Given the description of an element on the screen output the (x, y) to click on. 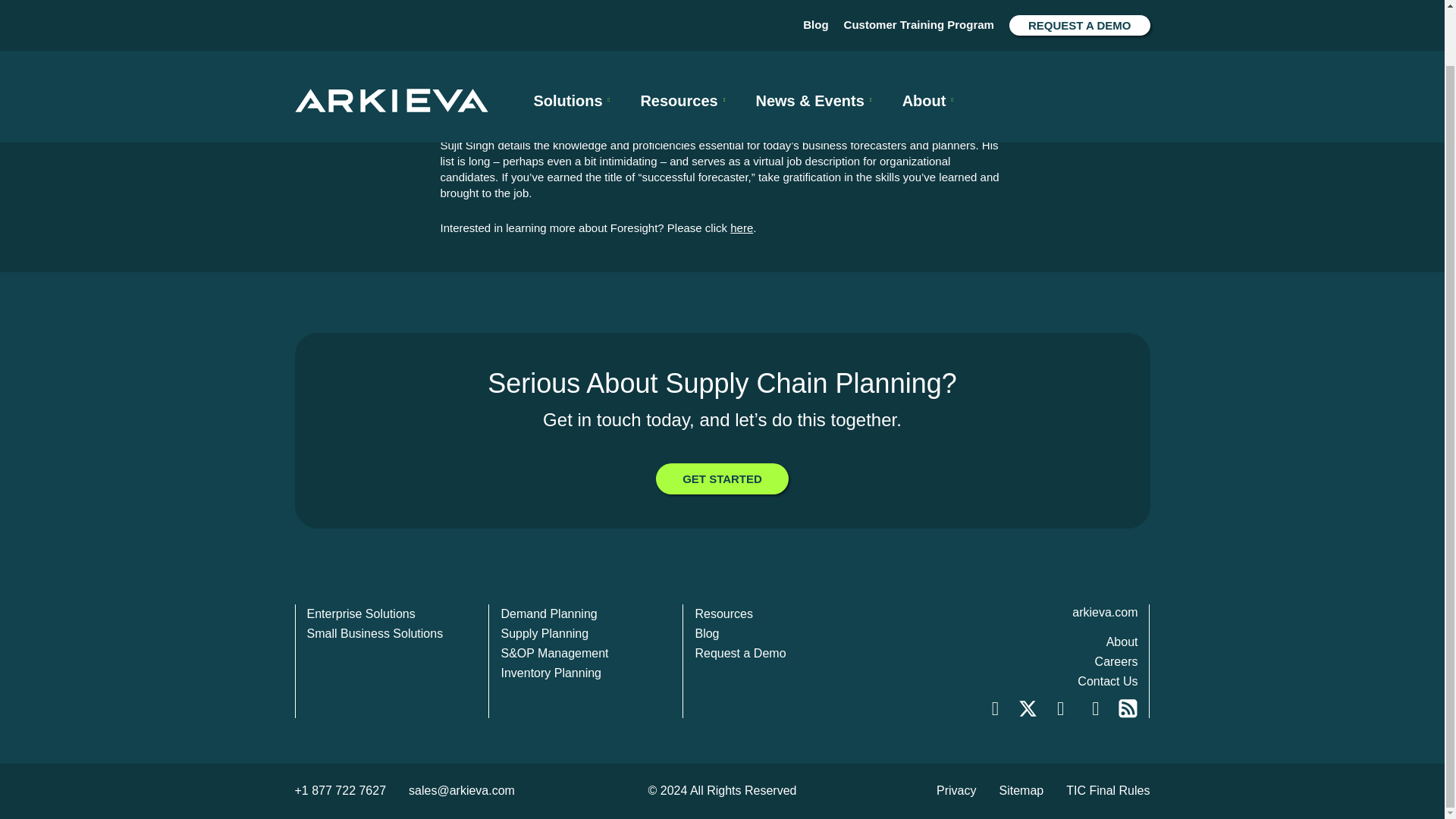
About (927, 39)
Solutions (572, 39)
Resources (681, 39)
